Given the description of an element on the screen output the (x, y) to click on. 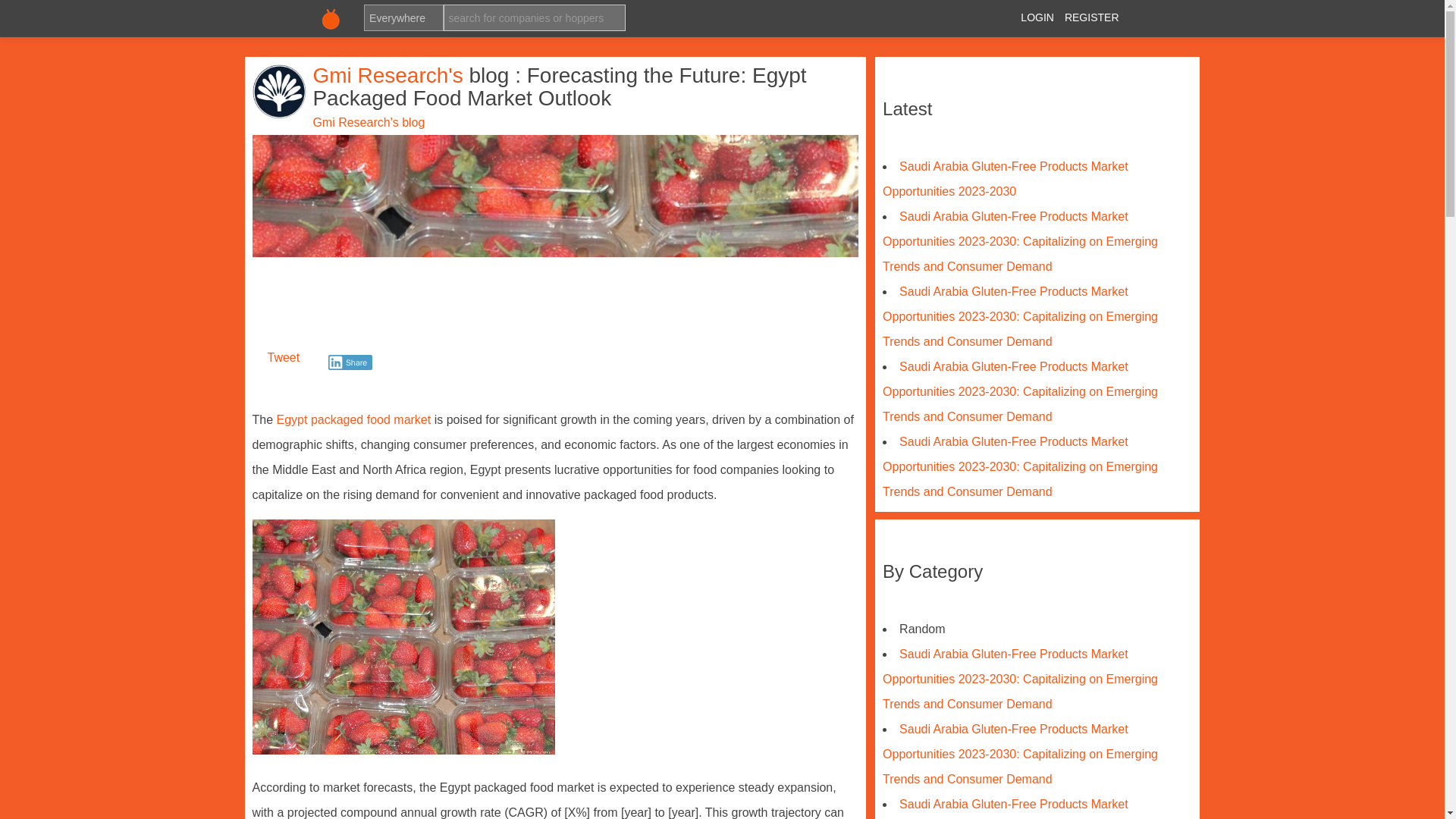
LOGIN (1036, 17)
Egypt packaged food market (353, 419)
Gmi Research's blog (369, 122)
Share (349, 362)
REGISTER (1091, 17)
Tweet (282, 357)
